Given the description of an element on the screen output the (x, y) to click on. 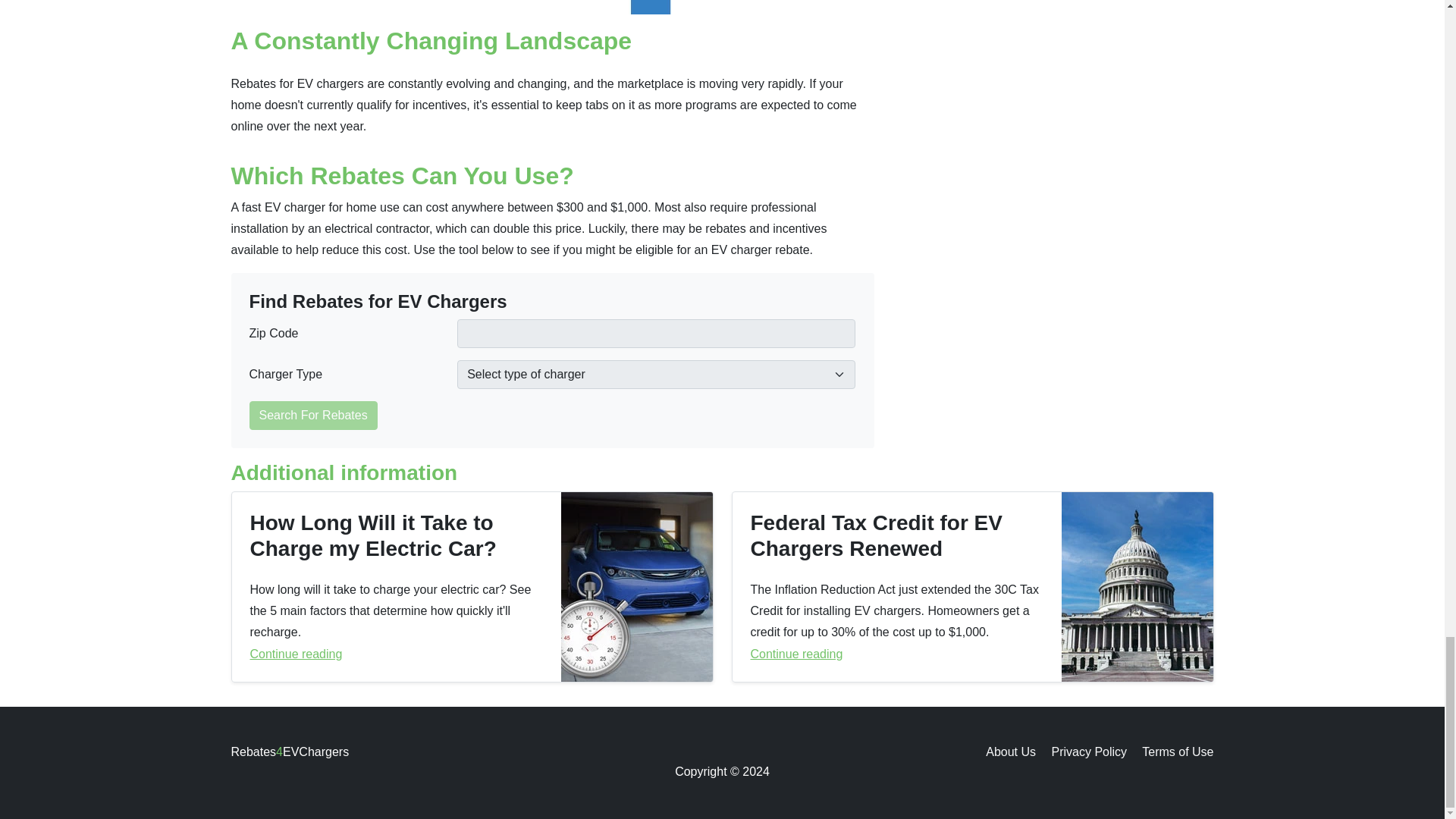
Continue reading (897, 654)
Please enter a 5-digit Zip Code (656, 332)
Continue reading (396, 654)
About Us (1010, 751)
Search For Rebates (312, 414)
Privacy Policy (1088, 751)
Terms of Use (1176, 751)
